Given the description of an element on the screen output the (x, y) to click on. 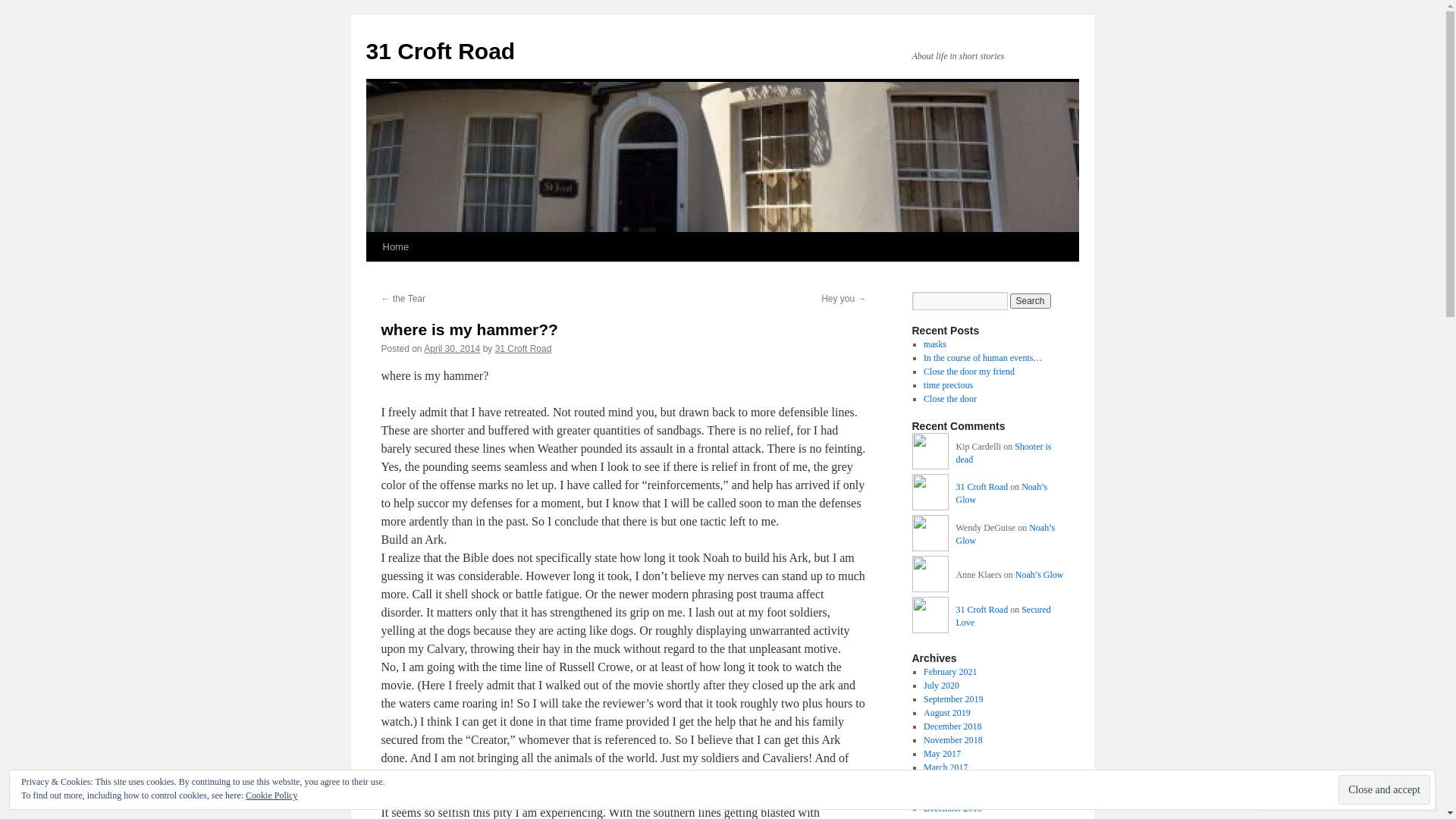
August 2019 Element type: text (946, 712)
31 Croft Road Element type: text (981, 486)
31 Croft Road Element type: text (439, 50)
31 Croft Road Element type: text (523, 348)
February 2017 Element type: text (949, 780)
31 Croft Road Element type: hover (929, 493)
time precious Element type: text (947, 384)
31 Croft Road Element type: hover (929, 616)
Close and accept Element type: text (1384, 789)
Kip Cardelli Element type: hover (929, 453)
Follow Element type: text (1374, 797)
where is my hammer?? Element type: text (468, 329)
July 2020 Element type: text (941, 685)
Close the door Element type: text (949, 398)
February 2021 Element type: text (949, 671)
Anne Klaers Element type: hover (929, 575)
Shooter is dead Element type: text (1003, 452)
Cookie Policy Element type: text (271, 795)
April 30, 2014 Element type: text (451, 348)
Secured Love Element type: text (1002, 615)
Comment Element type: text (1299, 797)
December 2018 Element type: text (952, 726)
September 2019 Element type: text (952, 698)
masks Element type: text (934, 343)
December 2016 Element type: text (952, 808)
January 2017 Element type: text (947, 794)
March 2017 Element type: text (945, 767)
31 Croft Road Element type: text (981, 609)
May 2017 Element type: text (941, 753)
Home Element type: text (395, 246)
November 2018 Element type: text (952, 739)
Close the door my friend Element type: text (968, 371)
Wendy DeGuise Element type: hover (929, 534)
Search Element type: text (1030, 300)
